Given the description of an element on the screen output the (x, y) to click on. 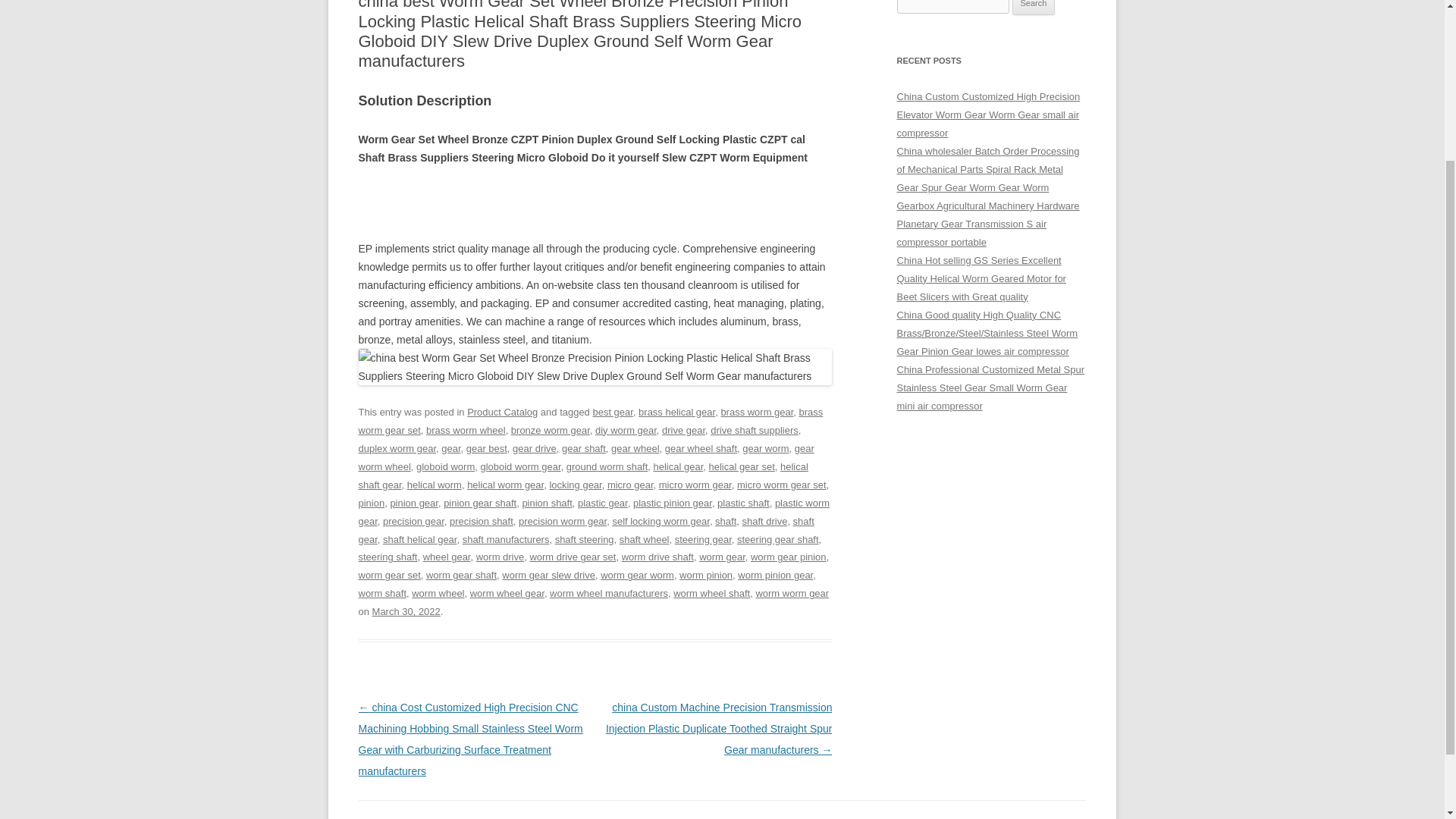
gear wheel (635, 448)
brass worm wheel (465, 430)
gear (450, 448)
diy worm gear (625, 430)
brass helical gear (676, 411)
gear drive (534, 448)
pinion (371, 502)
helical worm gear (505, 484)
gear best (485, 448)
pinion gear (414, 502)
